Given the description of an element on the screen output the (x, y) to click on. 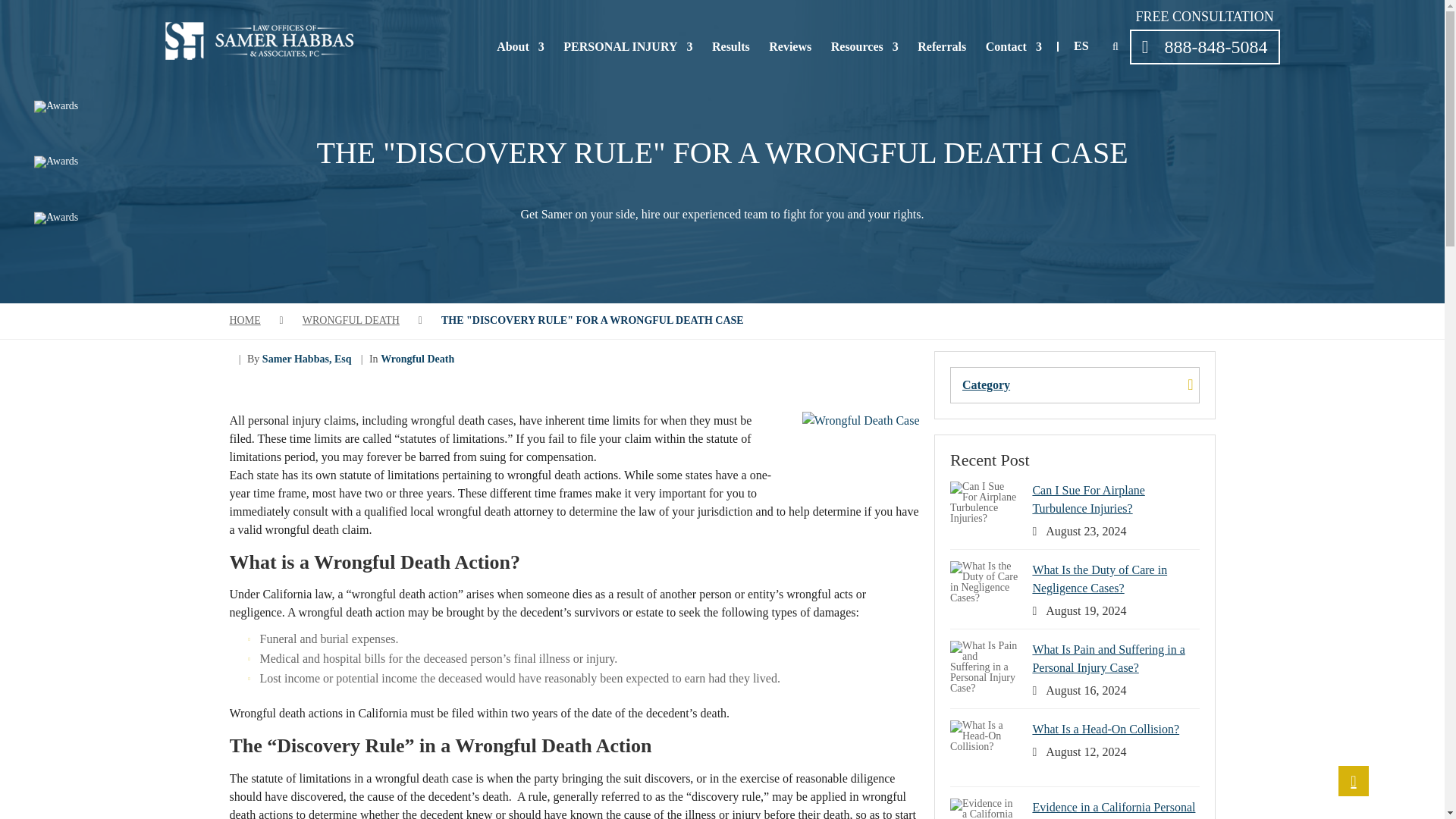
The "Discovery Rule" for a Wrongful Death Case (592, 319)
About (520, 46)
ES (1081, 45)
HOME (244, 319)
PERSONAL INJURY (628, 46)
